Given the description of an element on the screen output the (x, y) to click on. 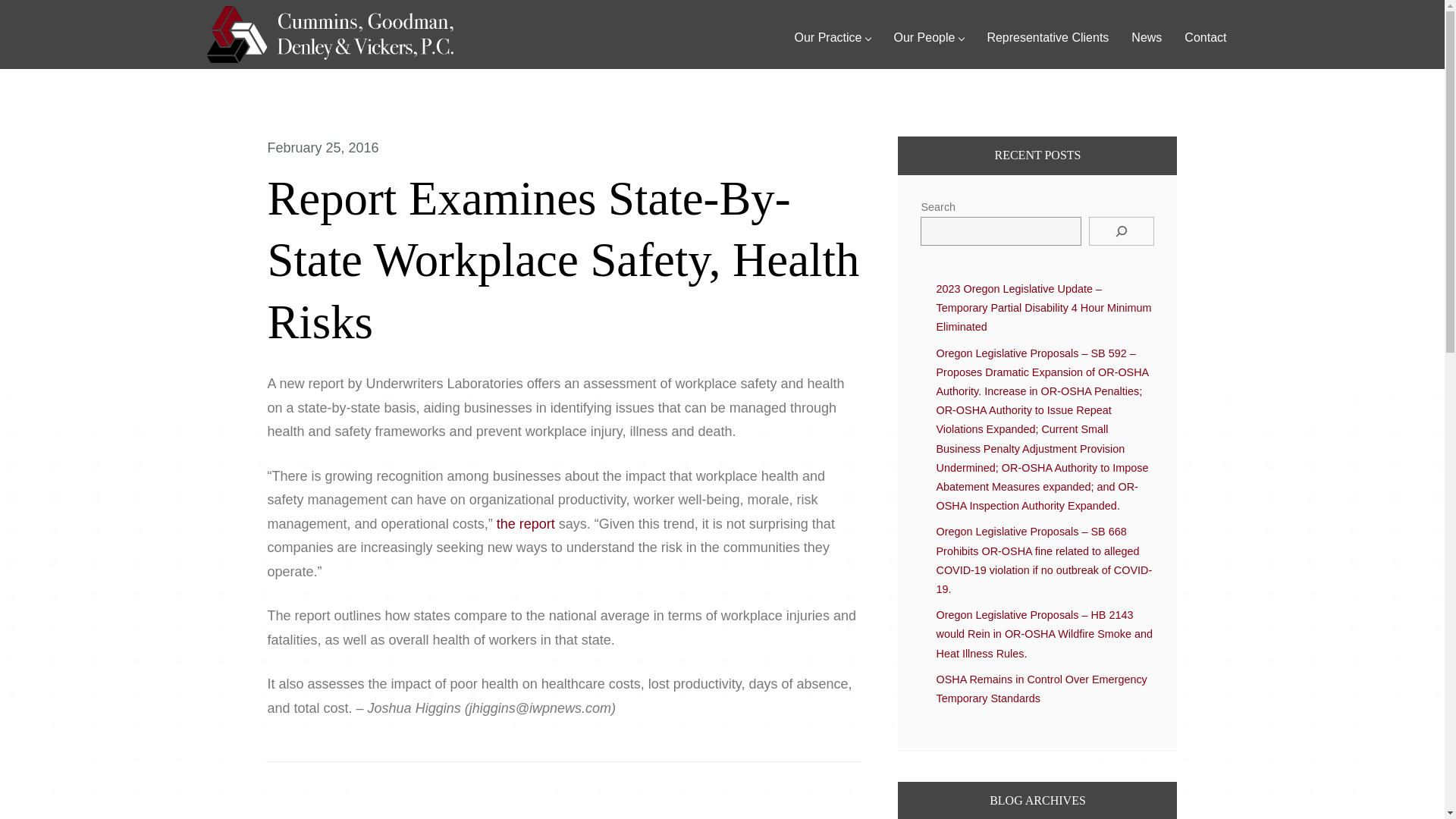
News (1146, 37)
OSHA Remains in Control Over Emergency Temporary Standards (1041, 688)
Representative Clients (1047, 37)
Our Practice (832, 37)
Contact (1205, 37)
the report (525, 523)
Our People (928, 37)
